Given the description of an element on the screen output the (x, y) to click on. 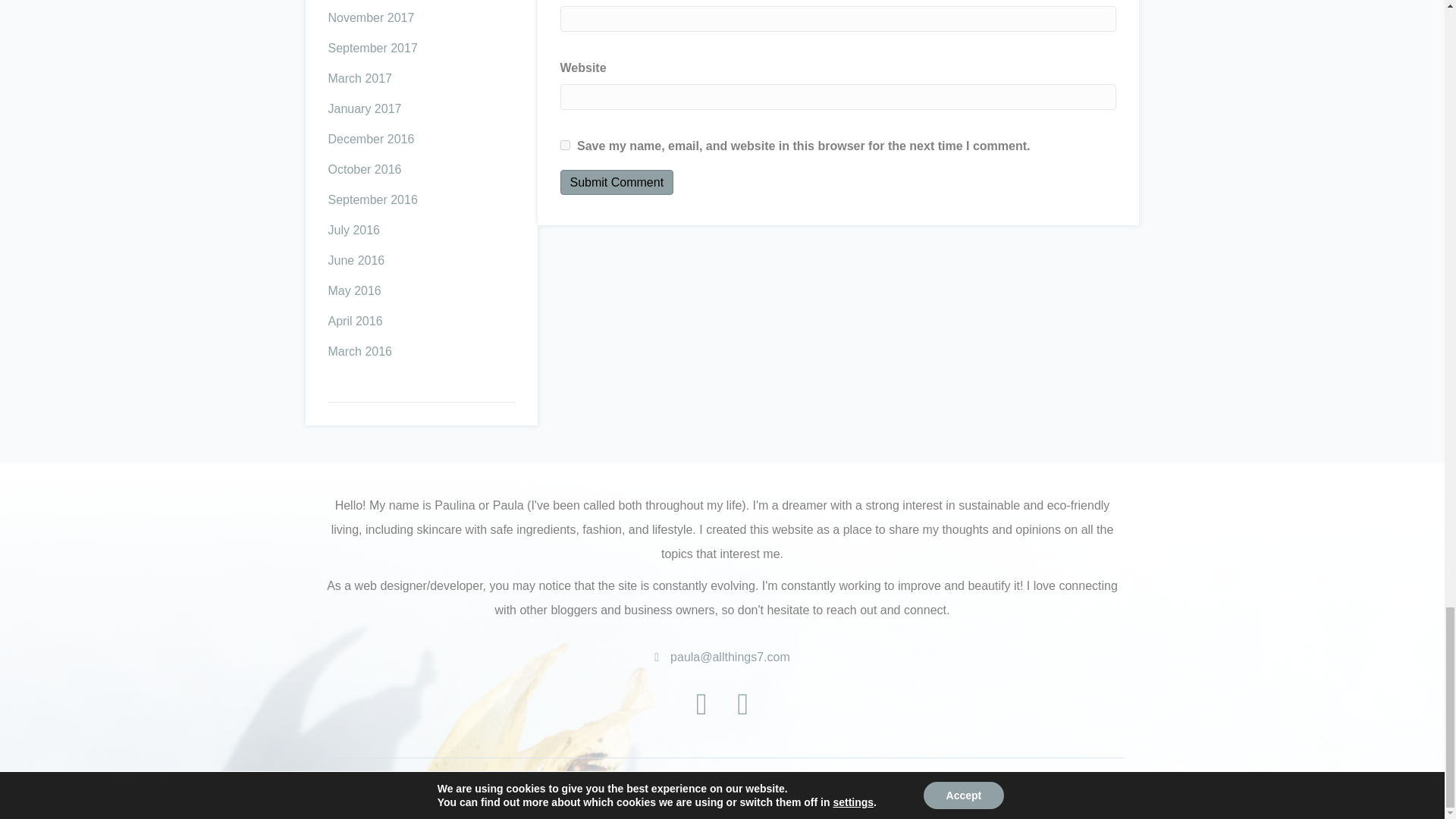
yes (565, 144)
Submit Comment (617, 181)
